Given the description of an element on the screen output the (x, y) to click on. 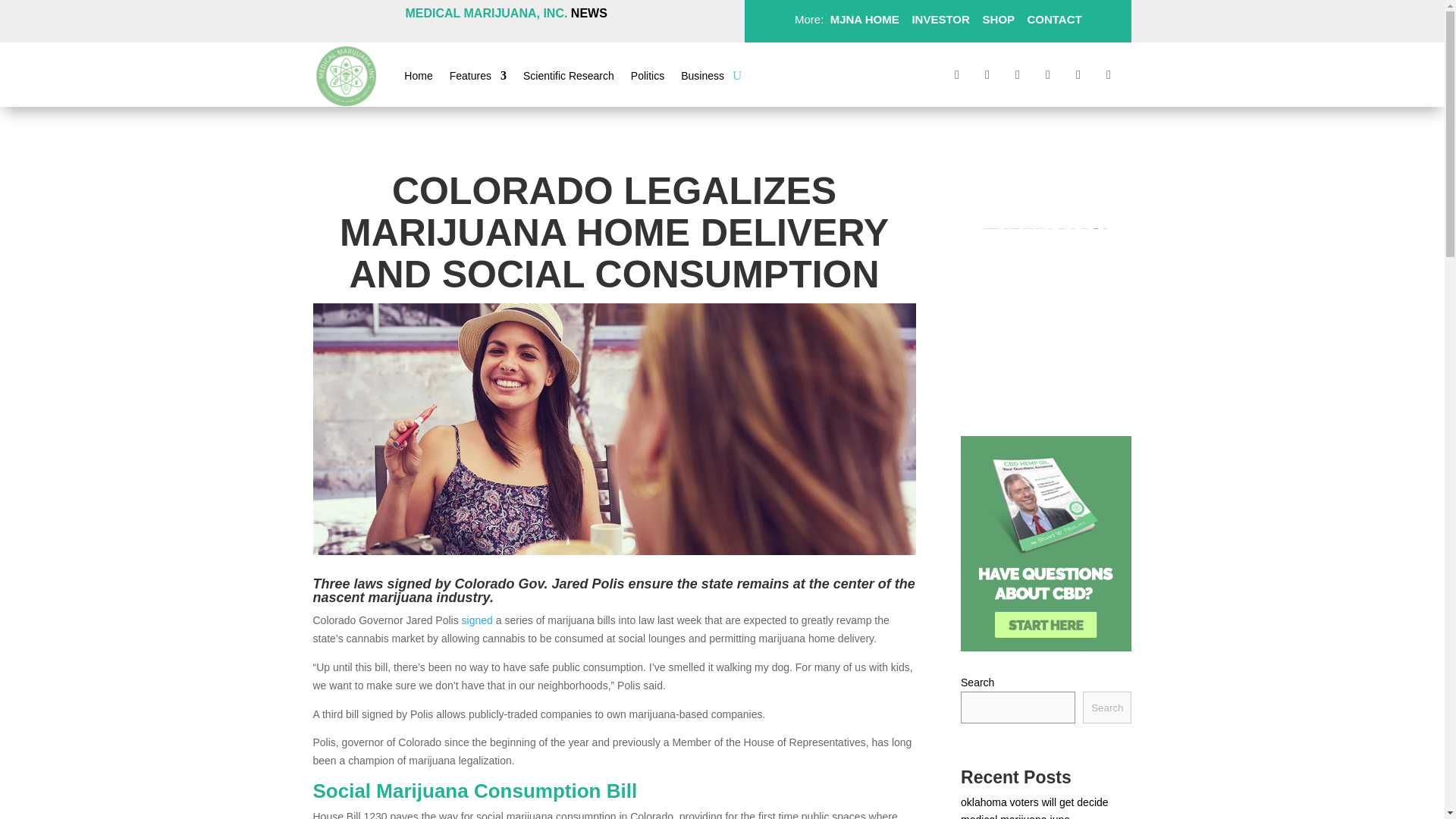
Home (418, 78)
Follow on Facebook (956, 74)
Follow on Instagram (1017, 74)
Business (702, 78)
logo-medical-marijuana-inc (345, 76)
Features (477, 78)
MJNA HOME (862, 19)
Follow on Youtube (1108, 74)
Scientific Research (568, 78)
INVESTOR (940, 19)
